Given the description of an element on the screen output the (x, y) to click on. 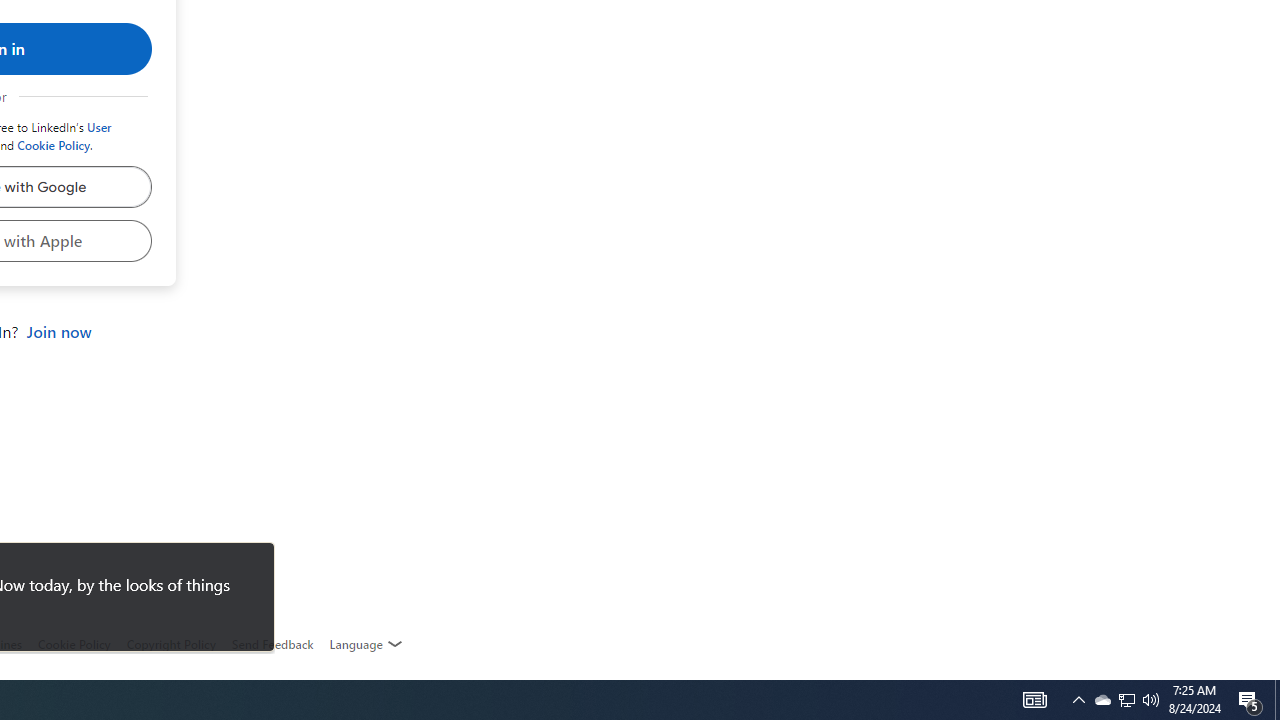
Send Feedback (271, 643)
Copyright Policy (170, 643)
Language (365, 643)
AutomationID: feedback-request (272, 643)
Join now (58, 332)
Cookie Policy (74, 643)
